Given the description of an element on the screen output the (x, y) to click on. 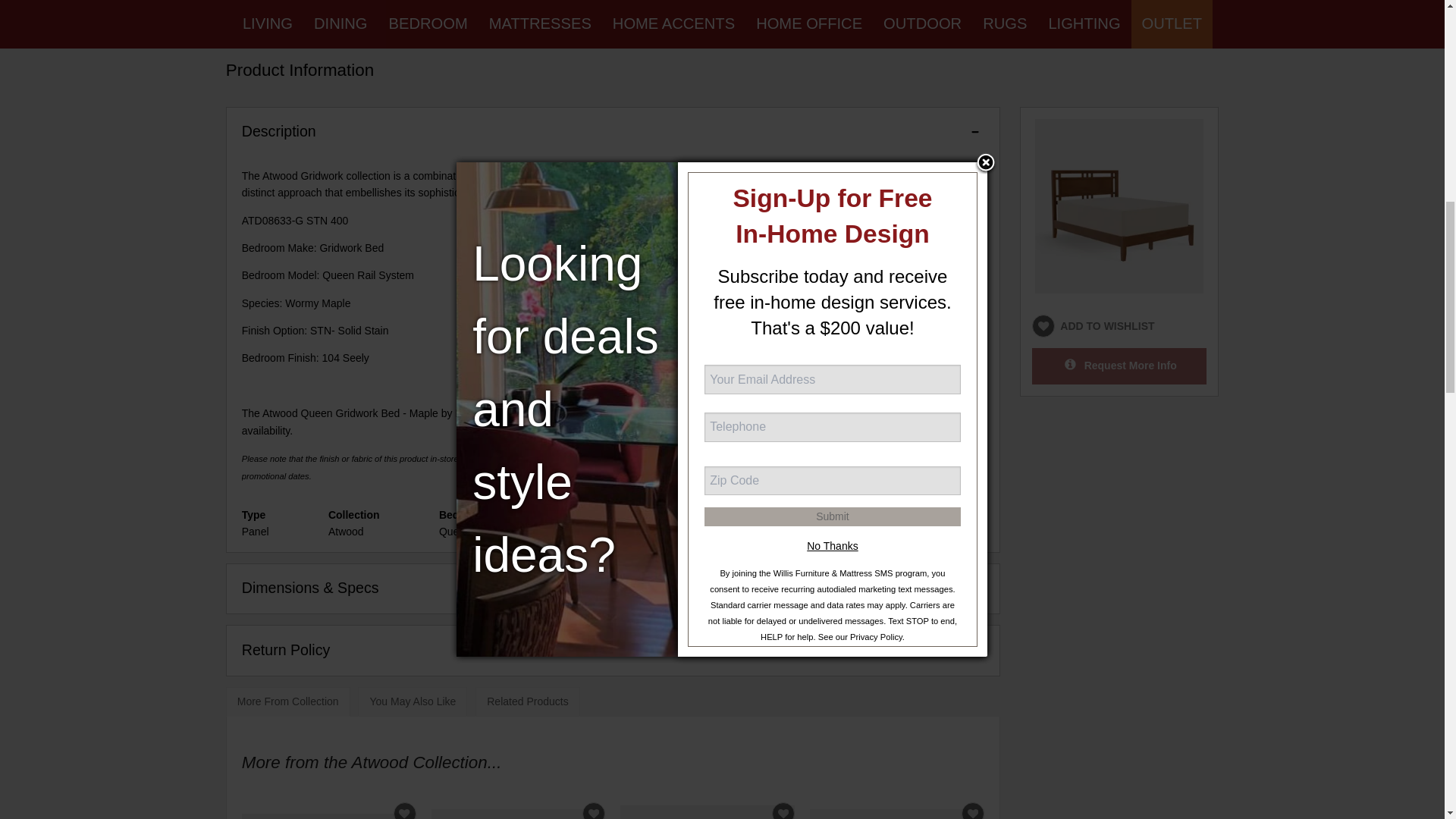
Contact us to check availability for this item. (900, 413)
Add to Wishlist (403, 810)
Add to Wishlist (593, 810)
